Given the description of an element on the screen output the (x, y) to click on. 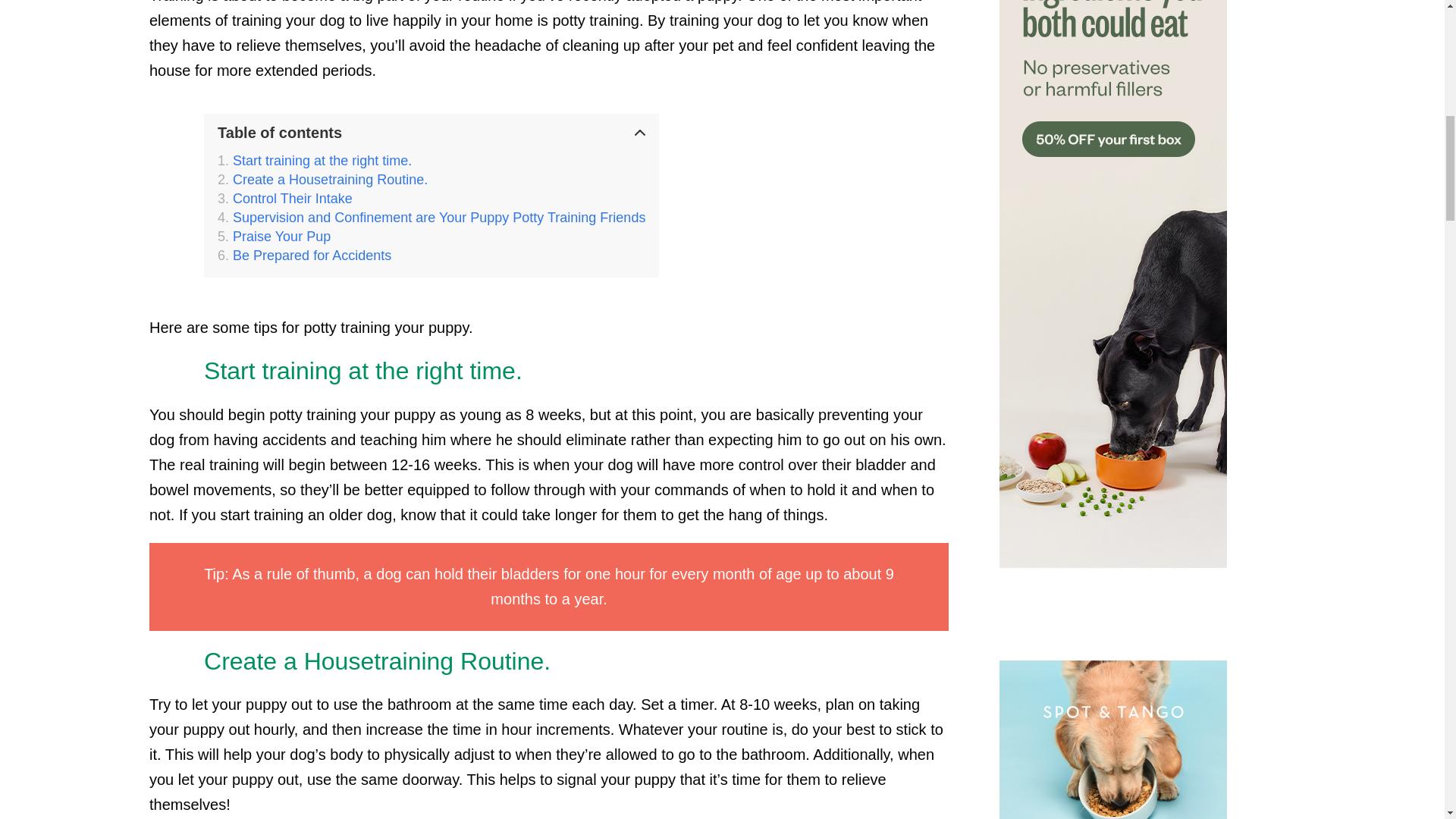
Praise Your Pup (273, 236)
Control Their Intake (284, 198)
